Given the description of an element on the screen output the (x, y) to click on. 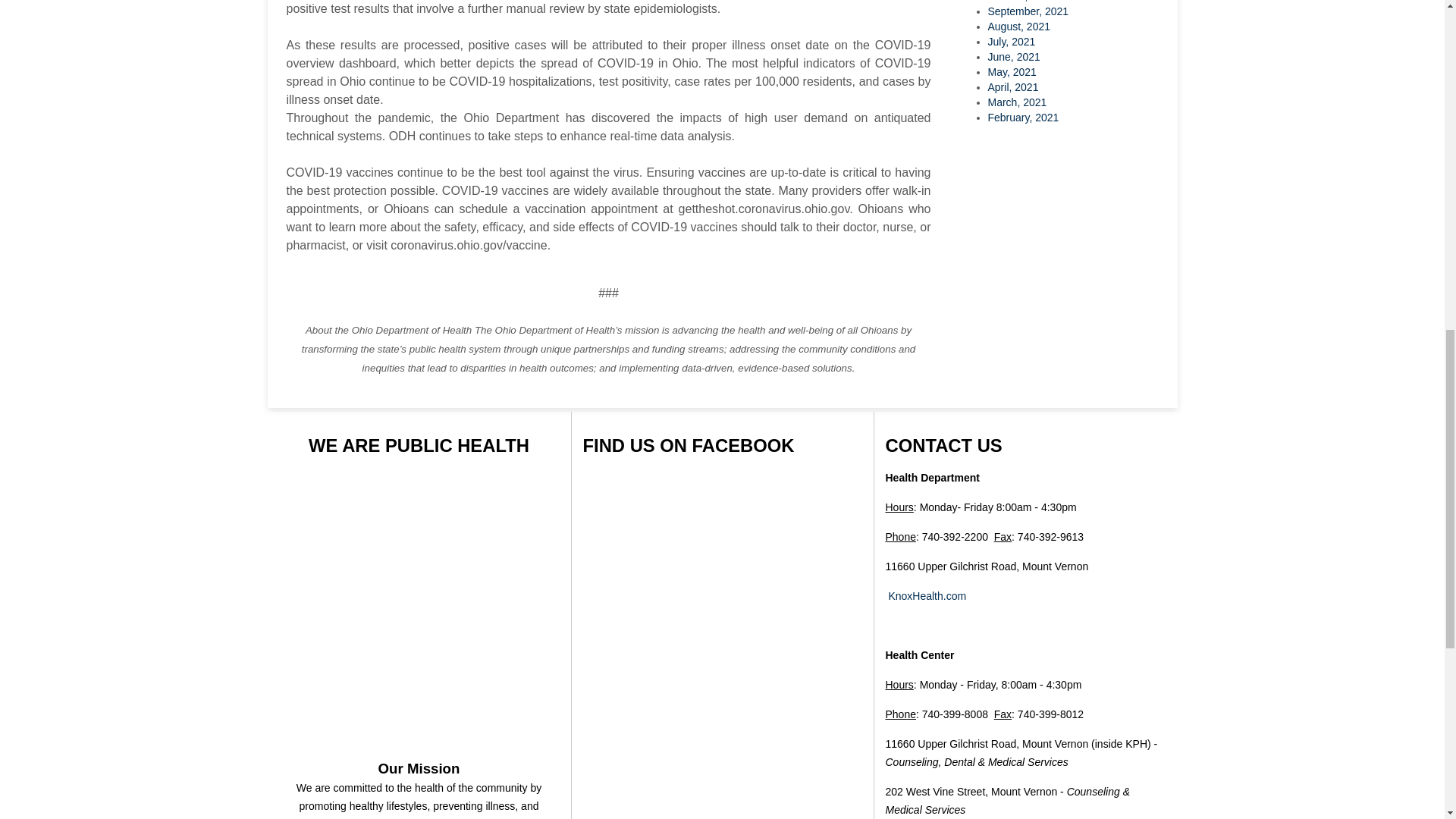
Public Health: prevent. promote. protect (419, 678)
